Given the description of an element on the screen output the (x, y) to click on. 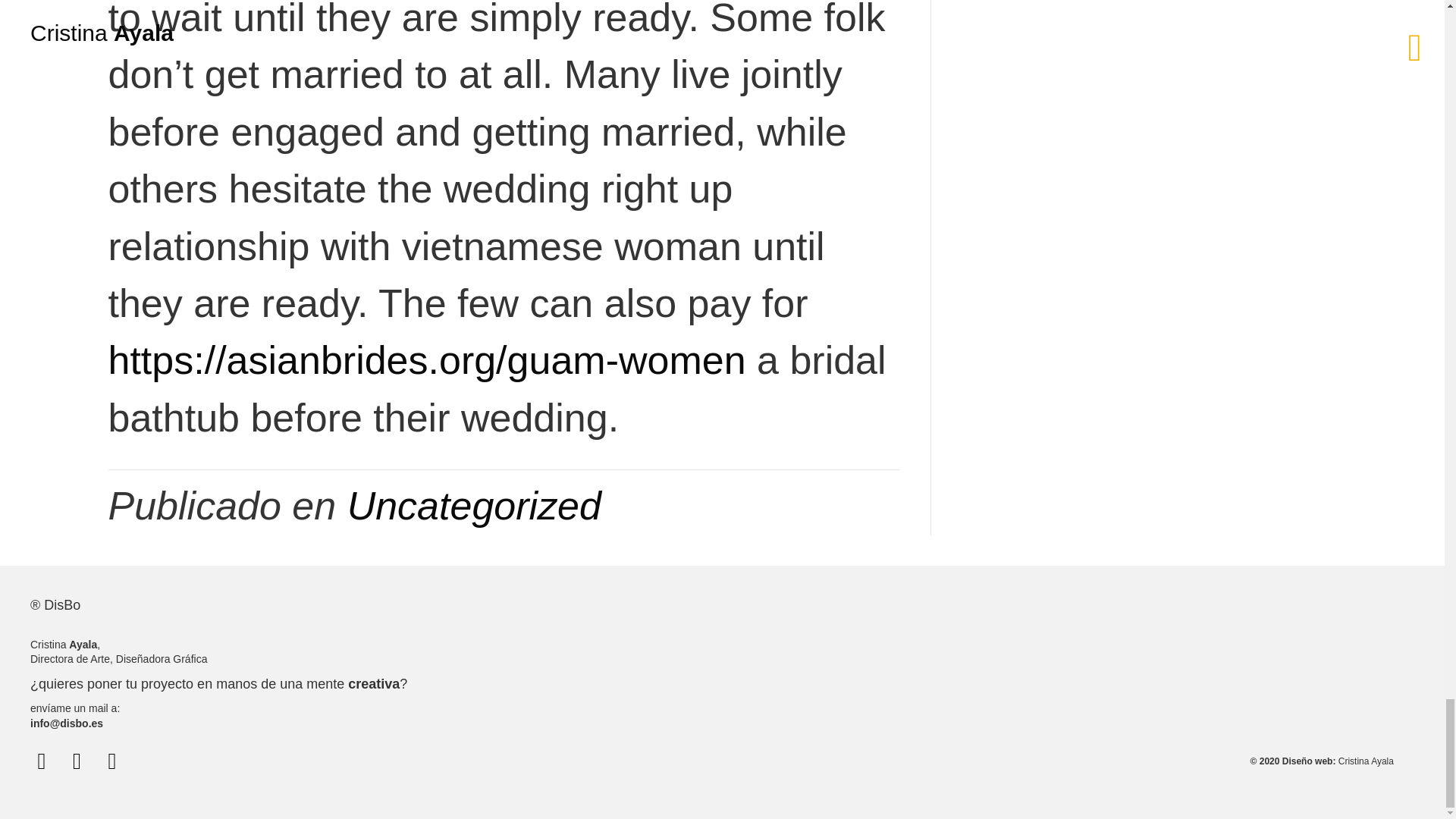
Vimeo (41, 761)
Uncategorized (474, 505)
Instagram (76, 761)
LinkedIn (111, 761)
